Given the description of an element on the screen output the (x, y) to click on. 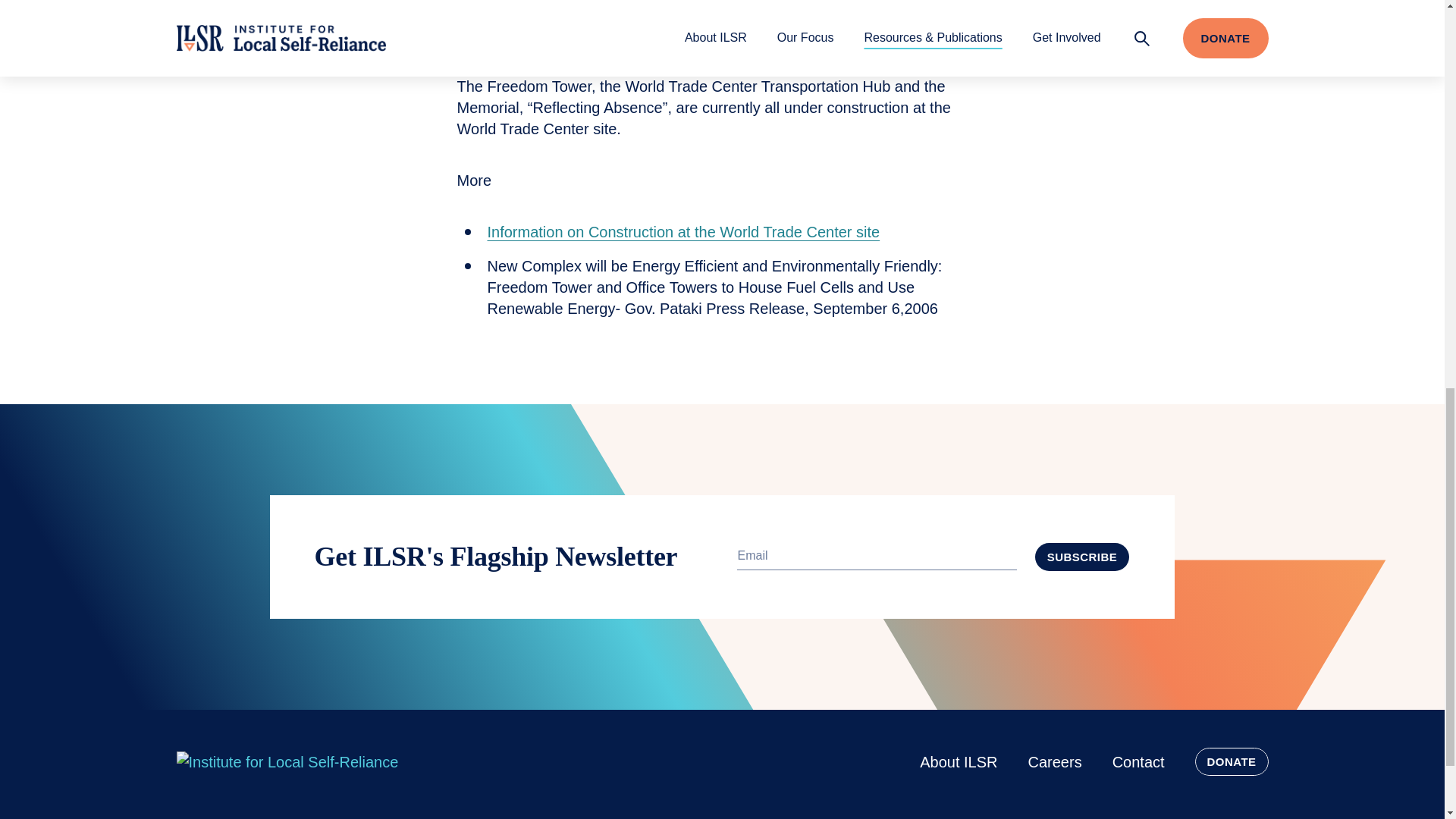
Information on Construction at the World Trade Center site (682, 231)
